Given the description of an element on the screen output the (x, y) to click on. 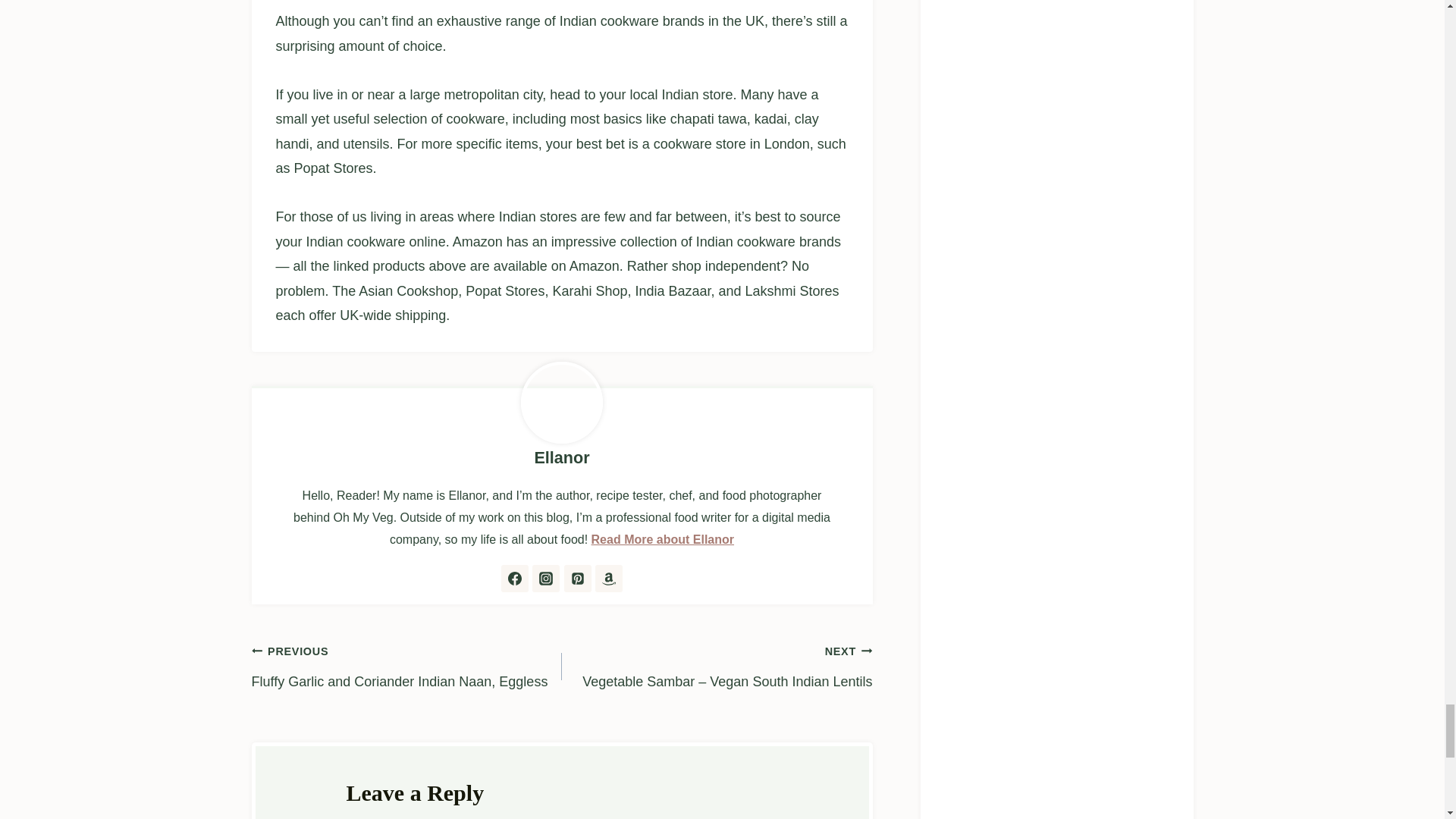
Follow Ellanor on Instagram (545, 578)
Follow Ellanor on Pinterest (577, 578)
Follow Ellanor on Amazon (609, 578)
Follow Ellanor on Facebook (514, 578)
Posts by Ellanor (561, 456)
